Given the description of an element on the screen output the (x, y) to click on. 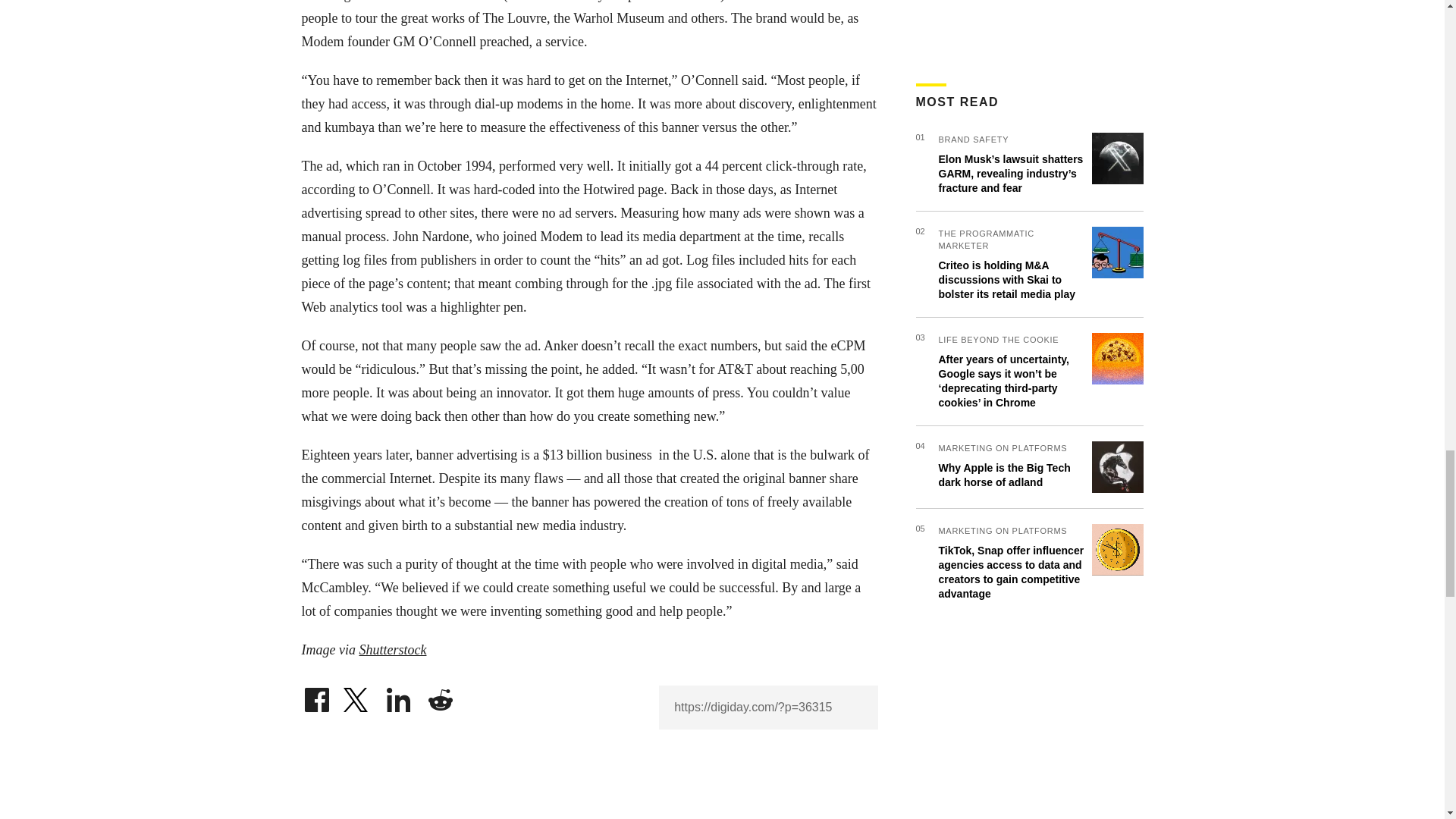
Share on Twitter (357, 695)
Share on Reddit (440, 695)
Share on Facebook (316, 695)
Share on LinkedIn (398, 695)
